Given the description of an element on the screen output the (x, y) to click on. 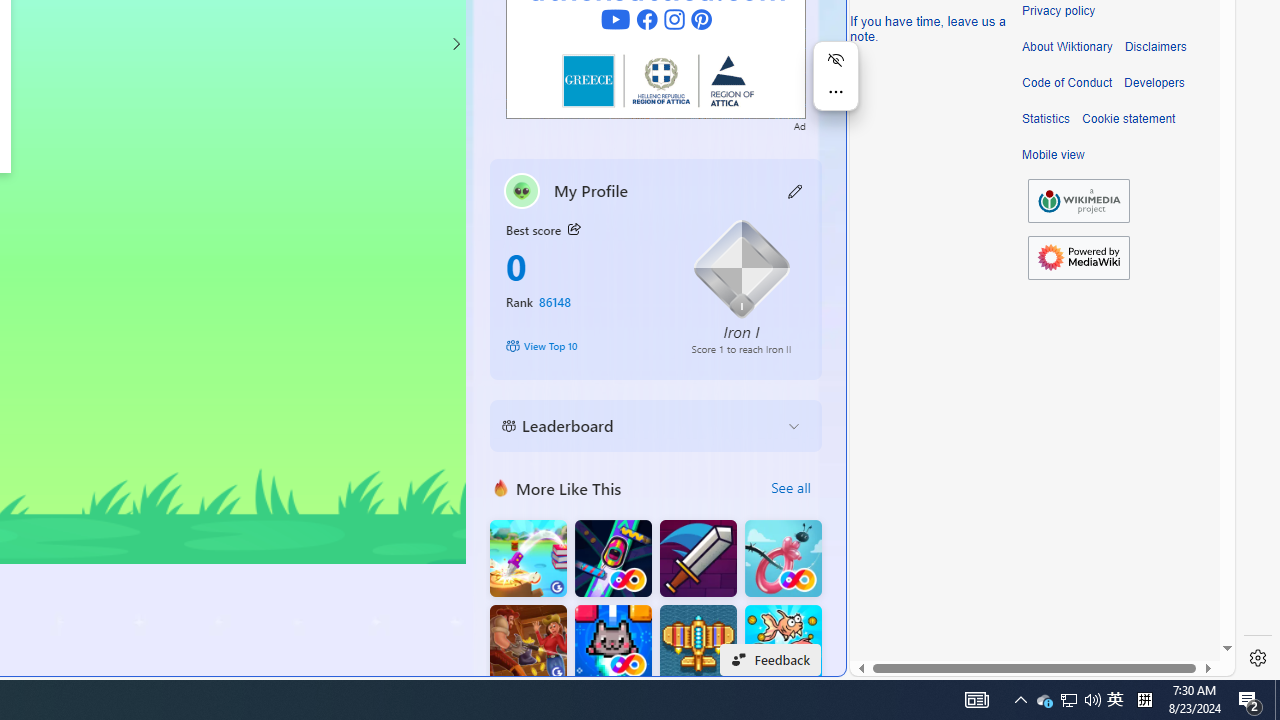
Class: button (574, 229)
Dungeon Master Knight (698, 558)
Fish Merge FRVR (783, 643)
Mobile view (1053, 155)
""'s avatar (522, 190)
google_privacy_policy_zh-CN.pdf (687, 482)
Code of Conduct (1067, 83)
Privacy policy (1058, 11)
Mini menu on text selection (835, 75)
Powered by MediaWiki (1078, 257)
Disclaimers (1154, 47)
